Given the description of an element on the screen output the (x, y) to click on. 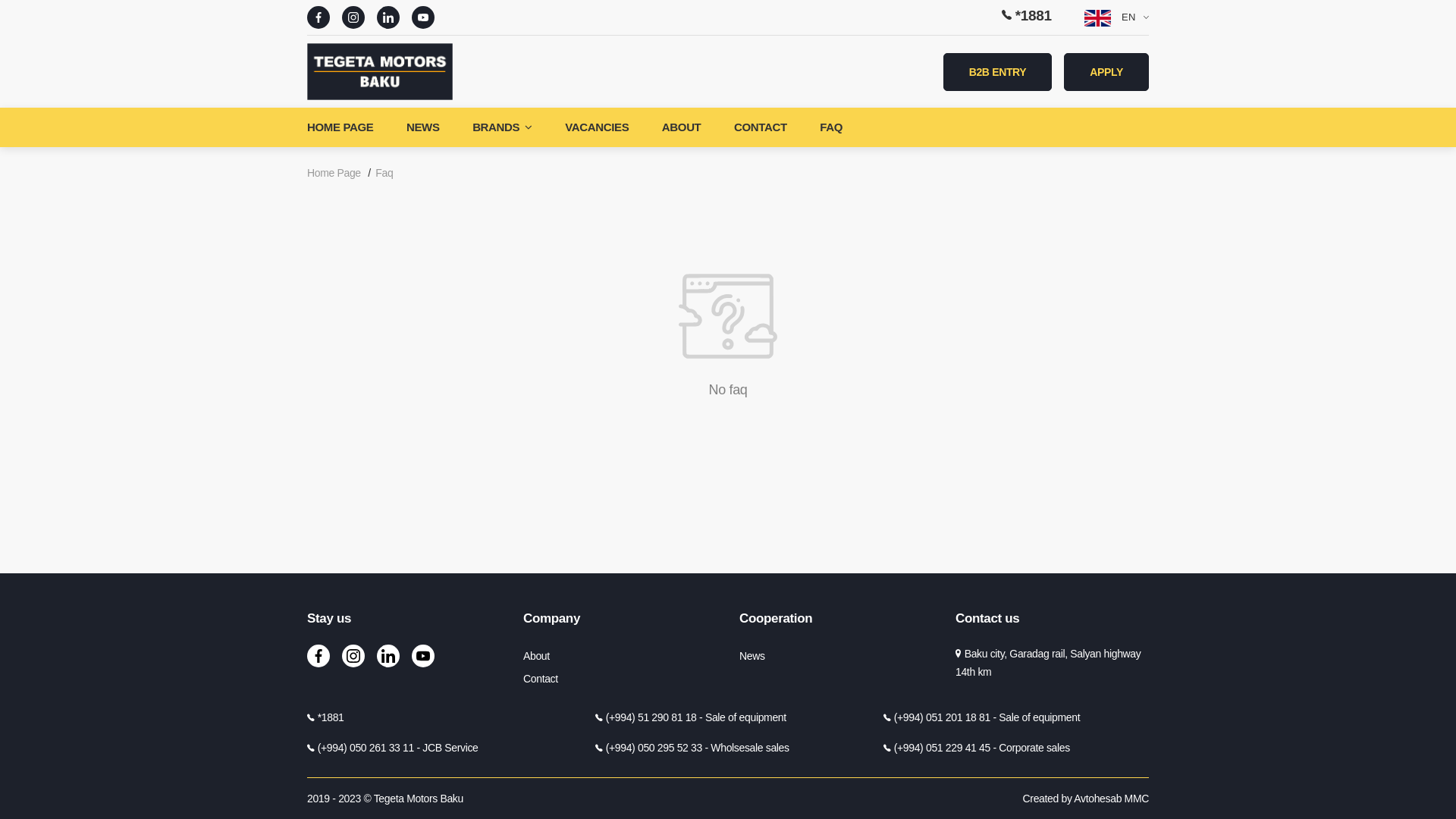
Avtohesab MMC Element type: text (1110, 798)
(+994) 050 261 33 11 Element type: text (365, 747)
NEWS Element type: text (423, 127)
(+994) 050 295 52 33 Element type: text (653, 747)
News Element type: text (752, 655)
CONTACT Element type: text (760, 127)
B2B ENTRY Element type: text (997, 72)
About Element type: text (536, 655)
Home Page Element type: text (333, 172)
(+994) 051 201 18 81 Element type: text (942, 717)
Faq Element type: text (383, 172)
EN Element type: text (1116, 17)
(+994) 051 229 41 45 Element type: text (942, 747)
*1881 Element type: text (1026, 15)
(+994) 51 290 81 18 Element type: text (650, 717)
BRANDS Element type: text (502, 127)
ABOUT Element type: text (681, 127)
Tegeta Motors Baku Element type: text (418, 798)
HOME PAGE Element type: text (347, 127)
FAQ Element type: text (830, 127)
APPLY Element type: text (1105, 72)
VACANCIES Element type: text (596, 127)
*1881 Element type: text (330, 717)
Contact Element type: text (540, 678)
